Given the description of an element on the screen output the (x, y) to click on. 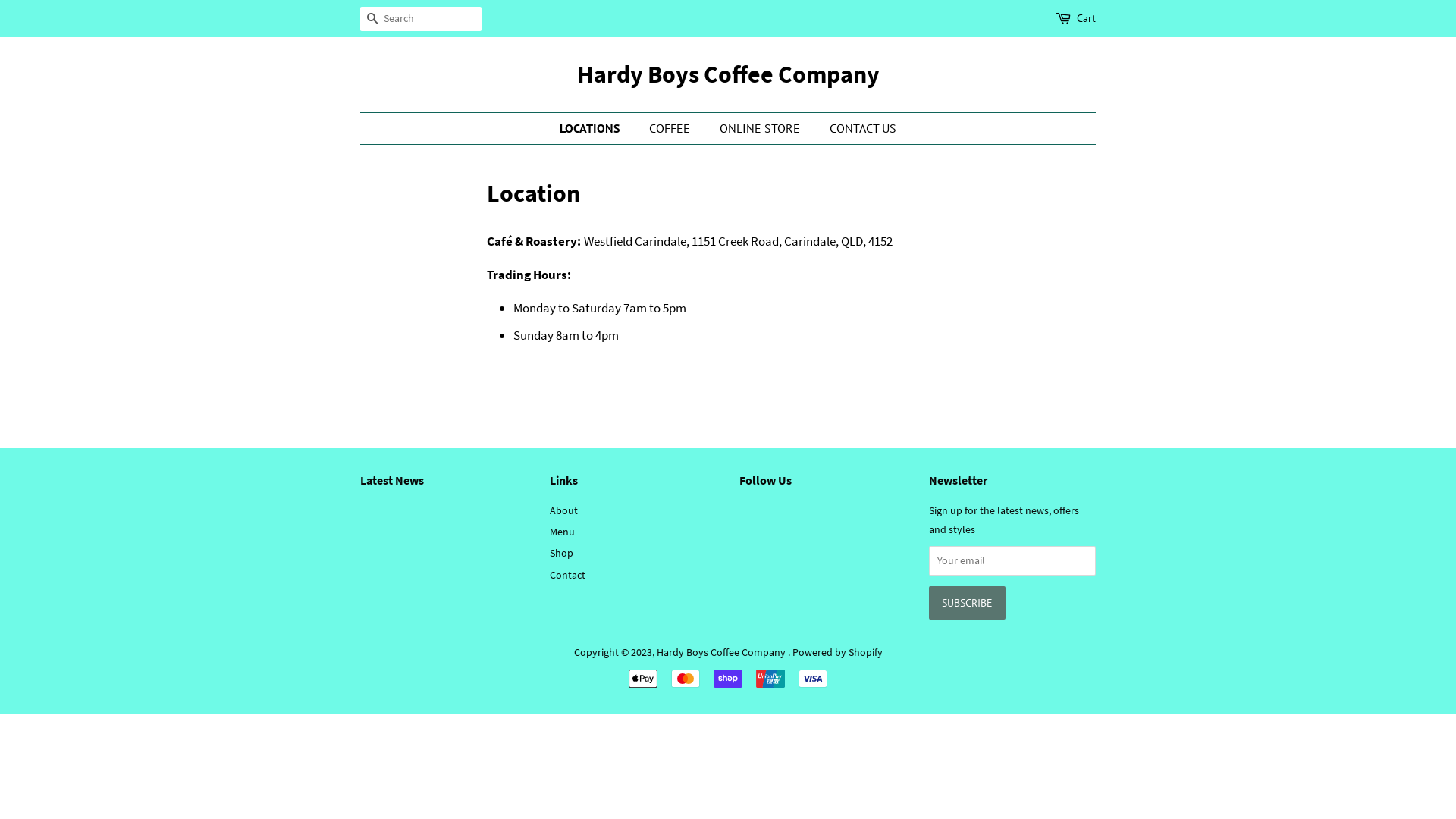
Subscribe Element type: text (966, 602)
COFFEE Element type: text (671, 128)
Powered by Shopify Element type: text (836, 651)
Latest News Element type: text (391, 479)
About Element type: text (563, 510)
CONTACT US Element type: text (857, 128)
Shop Element type: text (561, 552)
LOCATIONS Element type: text (596, 128)
Cart Element type: text (1085, 18)
Contact Element type: text (567, 574)
Hardy Boys Coffee Company Element type: text (721, 651)
SEARCH Element type: text (372, 18)
Hardy Boys Coffee Company Element type: text (727, 73)
ONLINE STORE Element type: text (761, 128)
Menu Element type: text (561, 531)
